Given the description of an element on the screen output the (x, y) to click on. 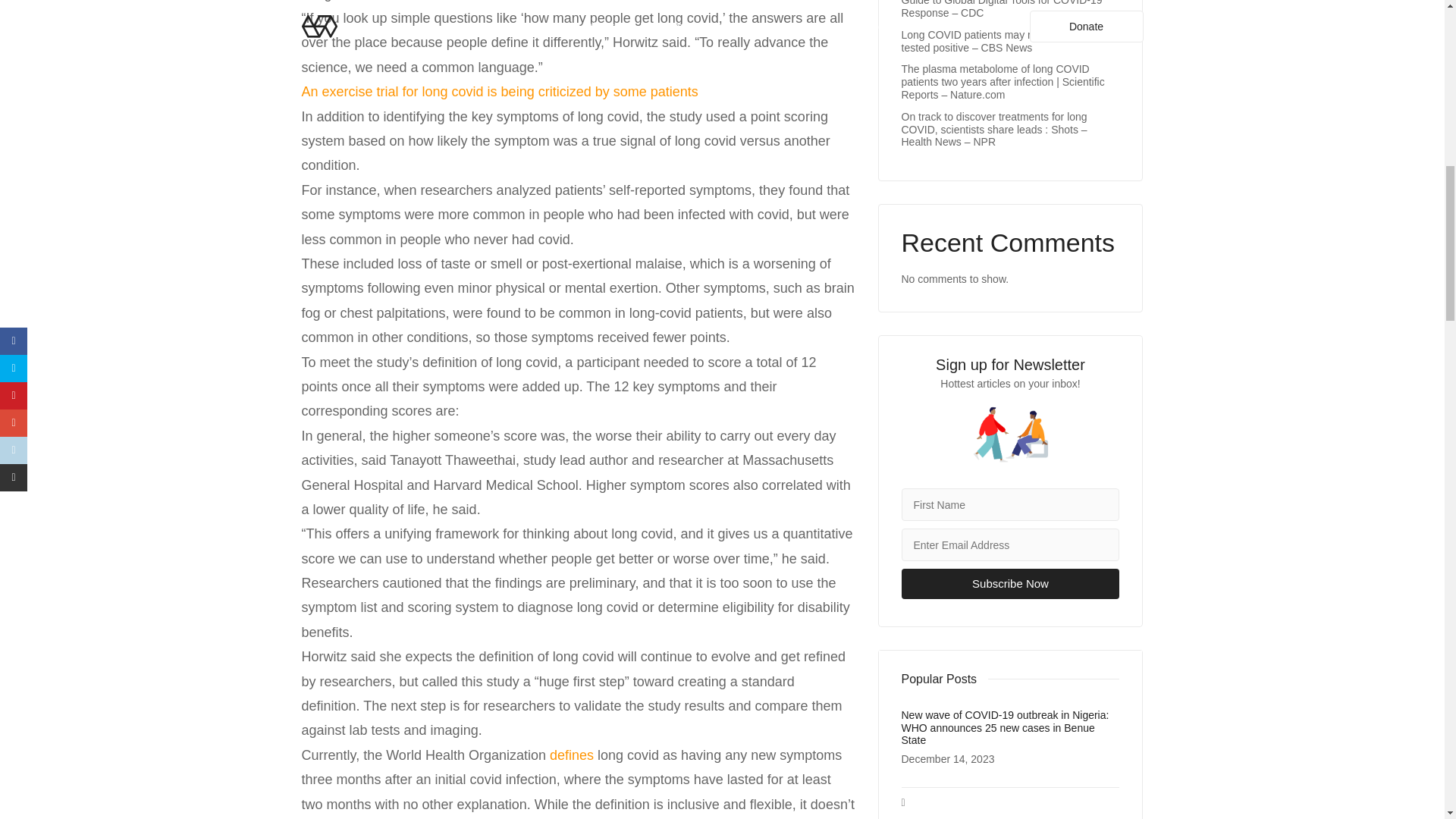
Subscribe Now (1010, 583)
defines (573, 754)
